Given the description of an element on the screen output the (x, y) to click on. 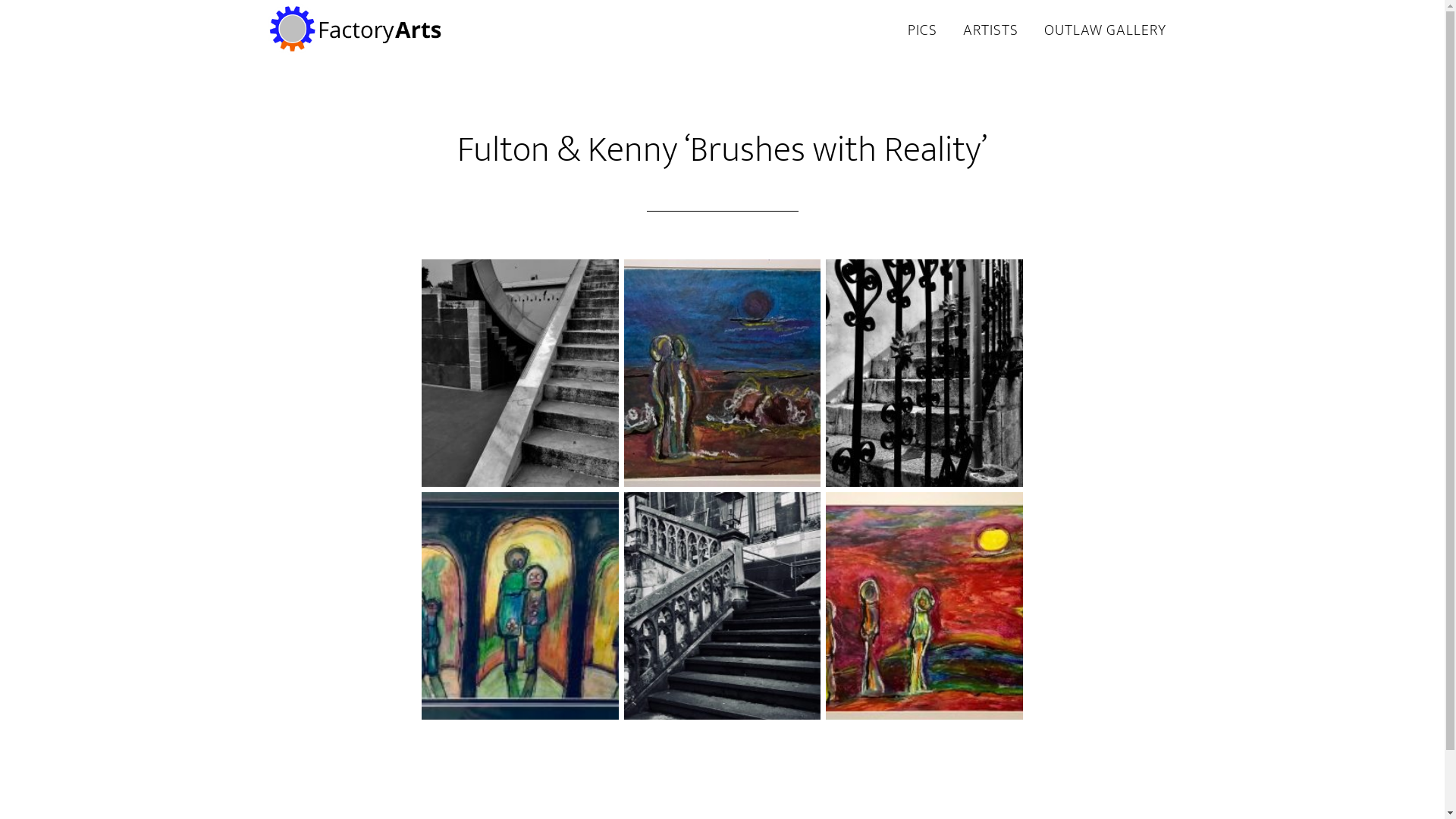
Skip to main content Element type: text (0, 0)
OUTLAW GALLERY Element type: text (1104, 31)
ARTISTS Element type: text (989, 31)
FACTORY ARTS Element type: text (402, 28)
PICS Element type: text (922, 31)
